Given the description of an element on the screen output the (x, y) to click on. 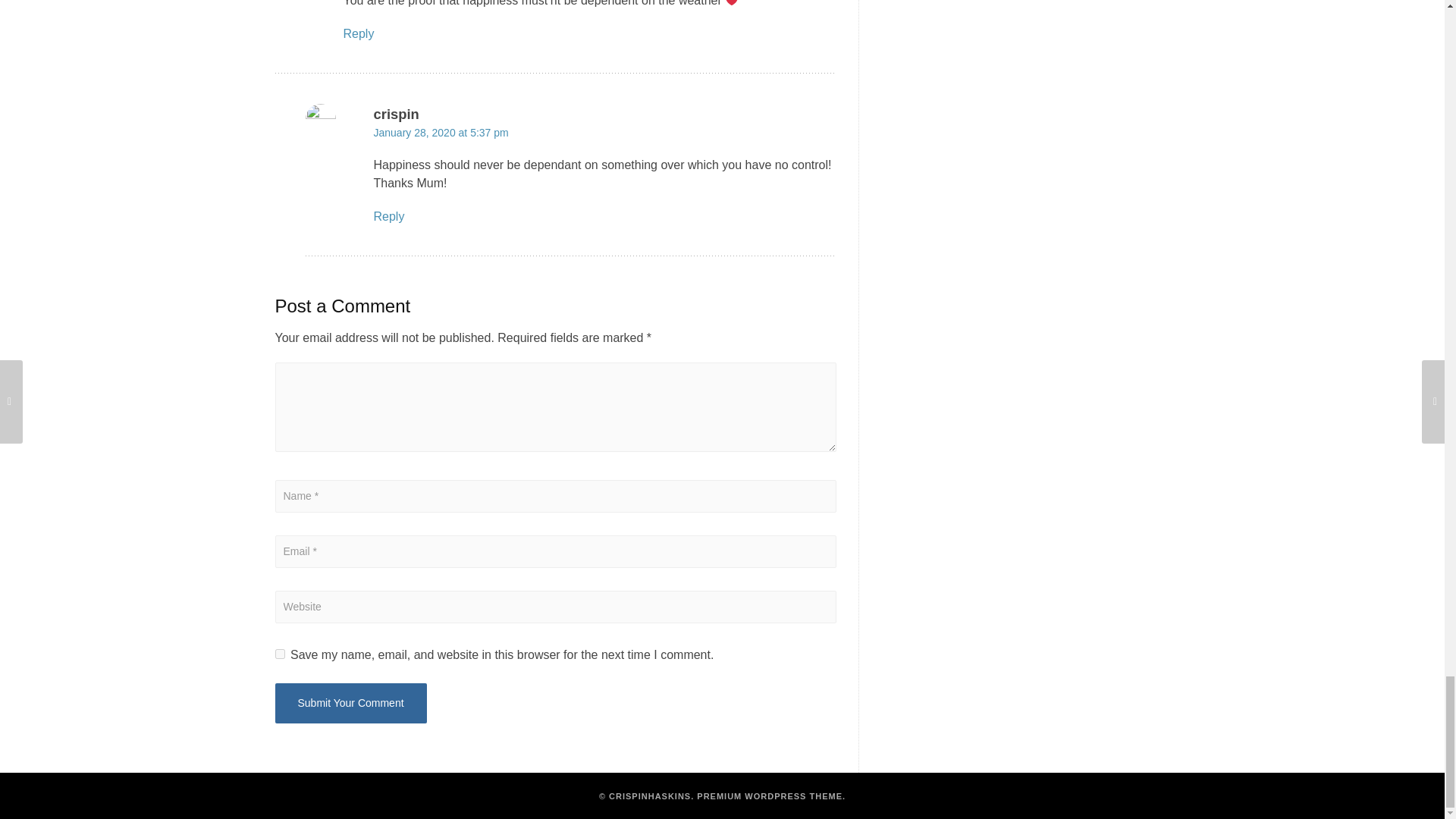
yes (279, 654)
Submit Your Comment (350, 702)
